Given the description of an element on the screen output the (x, y) to click on. 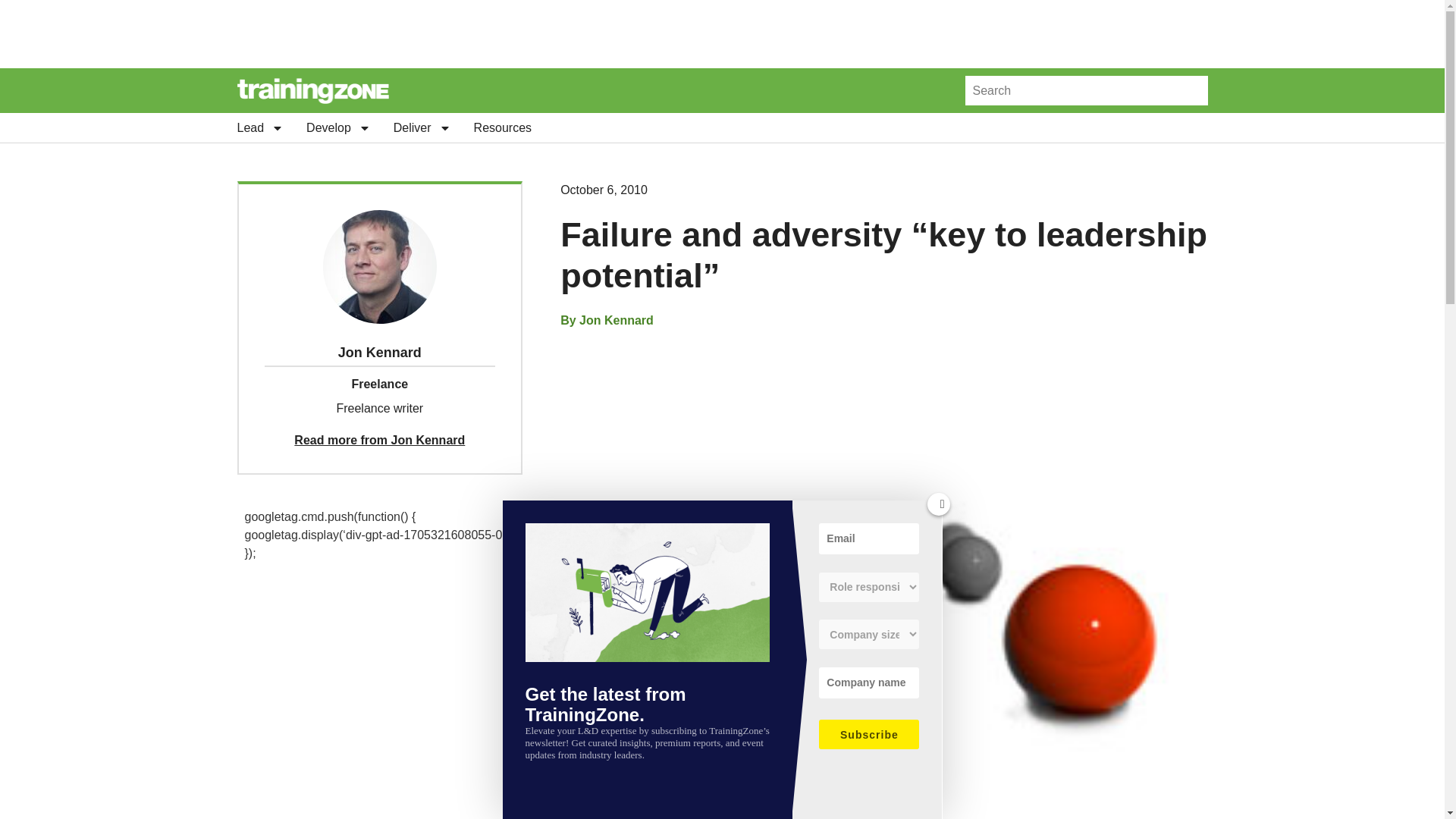
Deliver (422, 127)
Resources (502, 127)
By Jon Kennard (606, 321)
Read more from Jon Kennard (379, 440)
Lead (259, 127)
Develop (338, 127)
